Given the description of an element on the screen output the (x, y) to click on. 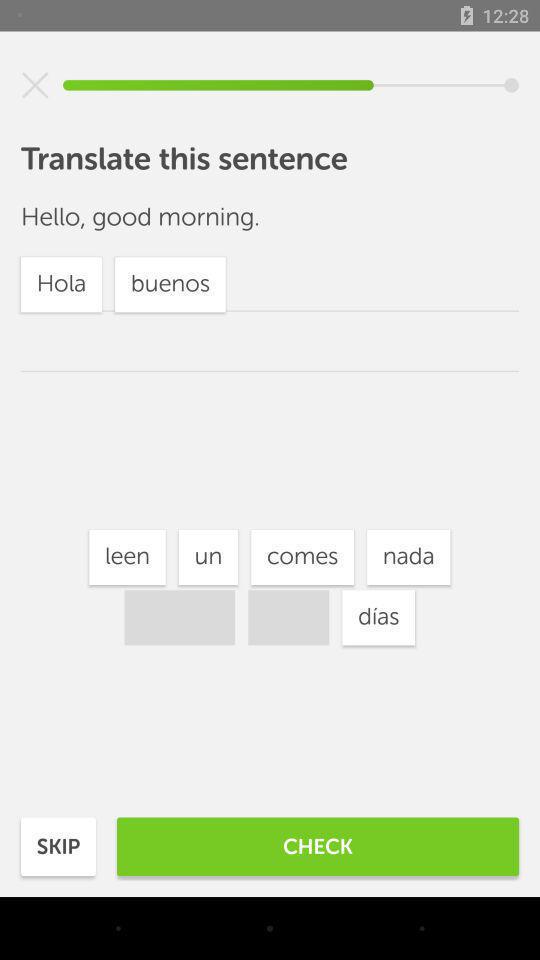
open skip at the bottom left corner (58, 846)
